Given the description of an element on the screen output the (x, y) to click on. 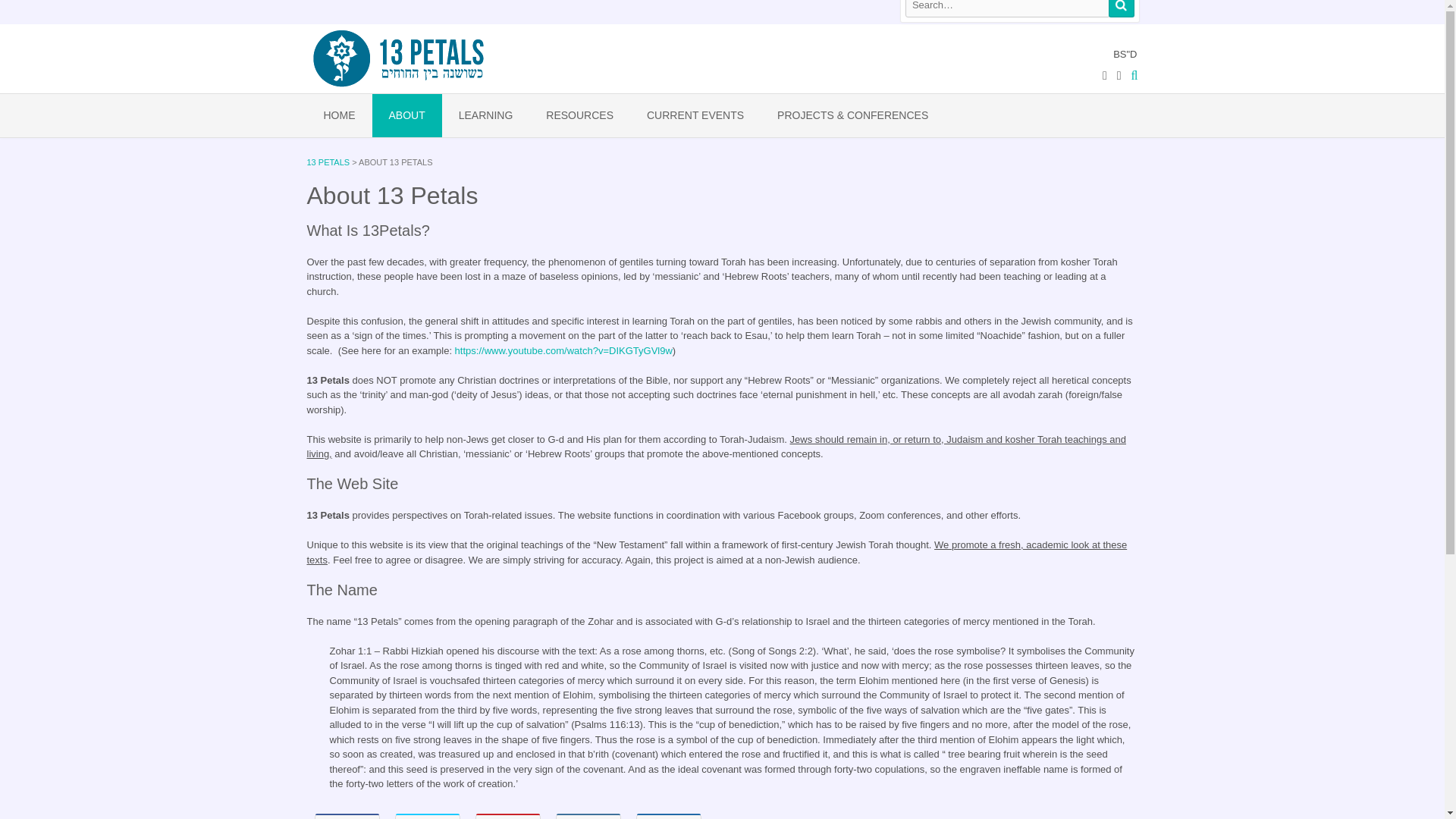
LEARNING (485, 115)
ABOUT (406, 115)
HOME (338, 115)
Share on Digg (667, 816)
Share (667, 816)
RESOURCES (579, 115)
Share on Twitter (427, 816)
Share (587, 816)
Share (346, 816)
CURRENT EVENTS (695, 115)
13 Petals (397, 58)
13 PETALS (327, 162)
